Given the description of an element on the screen output the (x, y) to click on. 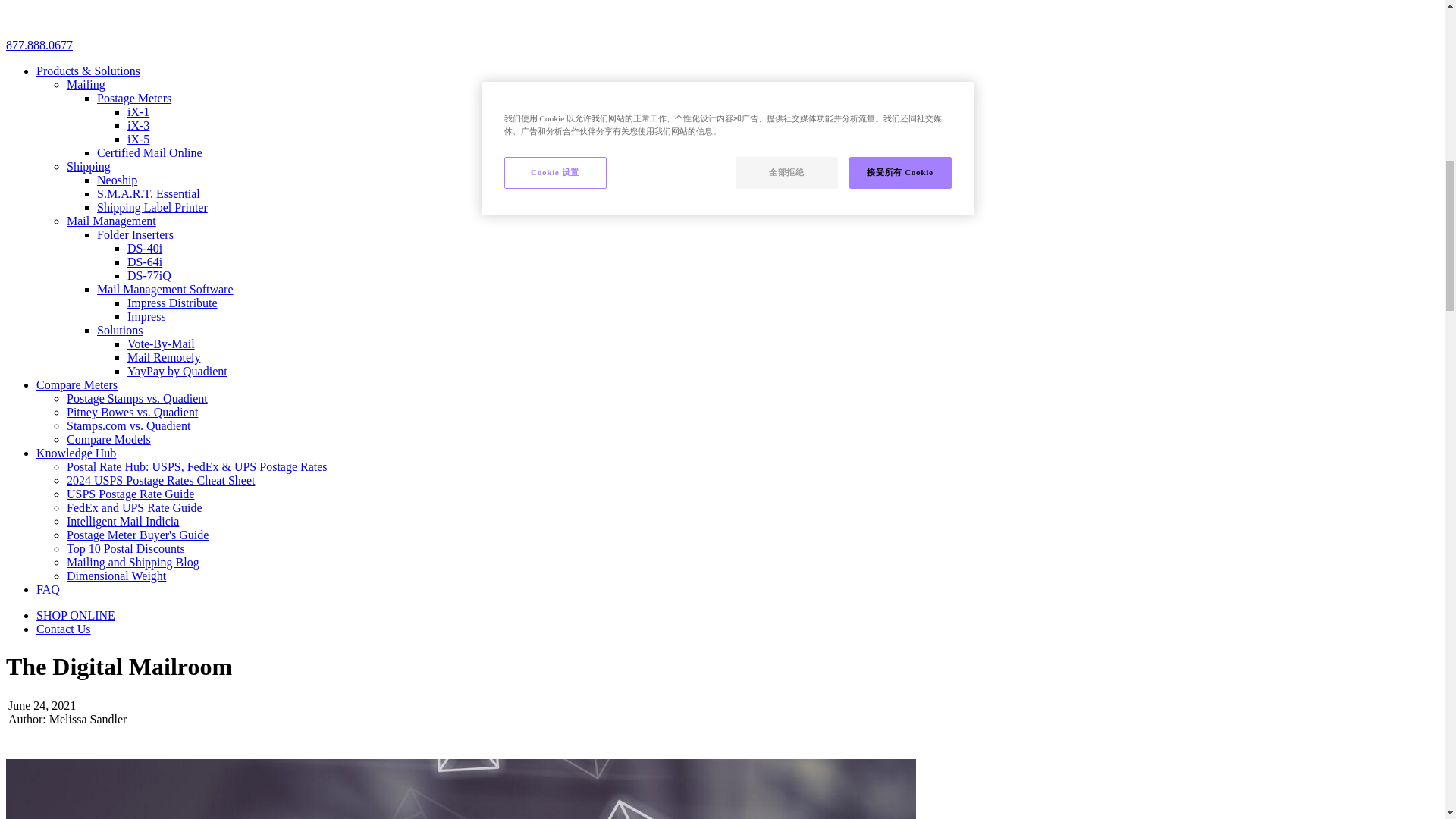
Solutions (119, 329)
FedEx and UPS Rate Guide (134, 507)
iX-3 (138, 124)
DS-64i (144, 261)
DS-77iQ (149, 275)
Compare Meters (76, 384)
Knowledge Hub (76, 452)
Intelligent Mail Indicia (122, 521)
iX-5 (138, 138)
2024 USPS Postage Rates Cheat Sheet (160, 480)
